Given the description of an element on the screen output the (x, y) to click on. 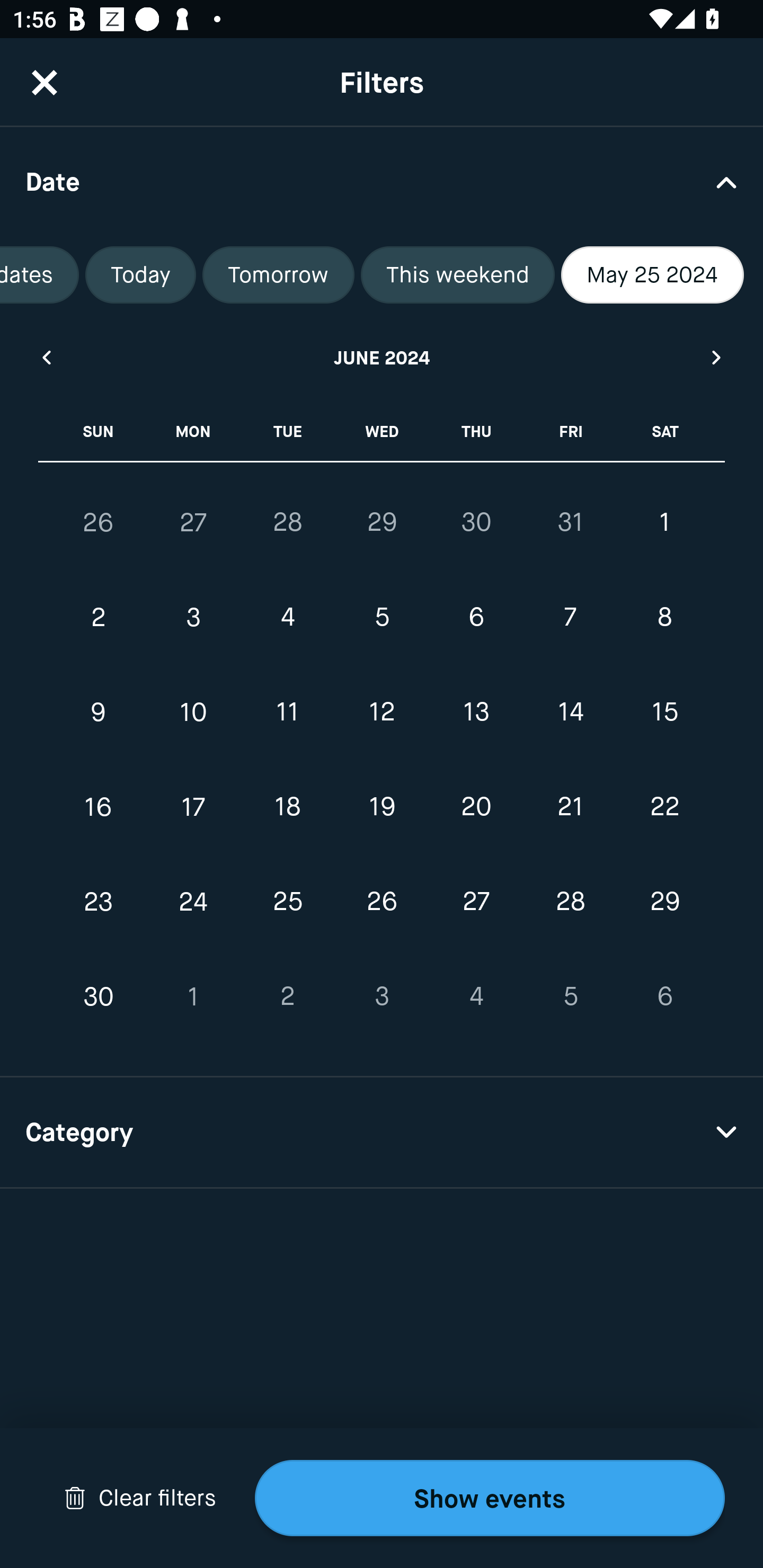
CloseButton (44, 82)
Date Drop Down Arrow (381, 181)
Today (140, 274)
Tomorrow (278, 274)
This weekend (457, 274)
May 25 2024 (651, 274)
Previous (45, 357)
Next (717, 357)
26 (98, 522)
27 (192, 522)
28 (287, 522)
29 (381, 522)
30 (475, 522)
31 (570, 522)
1 (664, 522)
2 (98, 617)
3 (192, 617)
4 (287, 617)
5 (381, 617)
6 (475, 617)
7 (570, 617)
8 (664, 617)
9 (98, 711)
10 (192, 711)
11 (287, 711)
12 (381, 711)
13 (475, 711)
14 (570, 711)
15 (664, 711)
16 (98, 806)
17 (192, 806)
18 (287, 806)
19 (381, 806)
20 (475, 806)
21 (570, 806)
22 (664, 806)
23 (98, 901)
24 (192, 901)
25 (287, 901)
26 (381, 901)
27 (475, 901)
28 (570, 901)
29 (664, 901)
30 (98, 996)
1 (192, 996)
2 (287, 996)
3 (381, 996)
4 (475, 996)
5 (570, 996)
6 (664, 996)
Category Drop Down Arrow (381, 1132)
Drop Down Arrow Clear filters (139, 1497)
Show events (489, 1497)
